Given the description of an element on the screen output the (x, y) to click on. 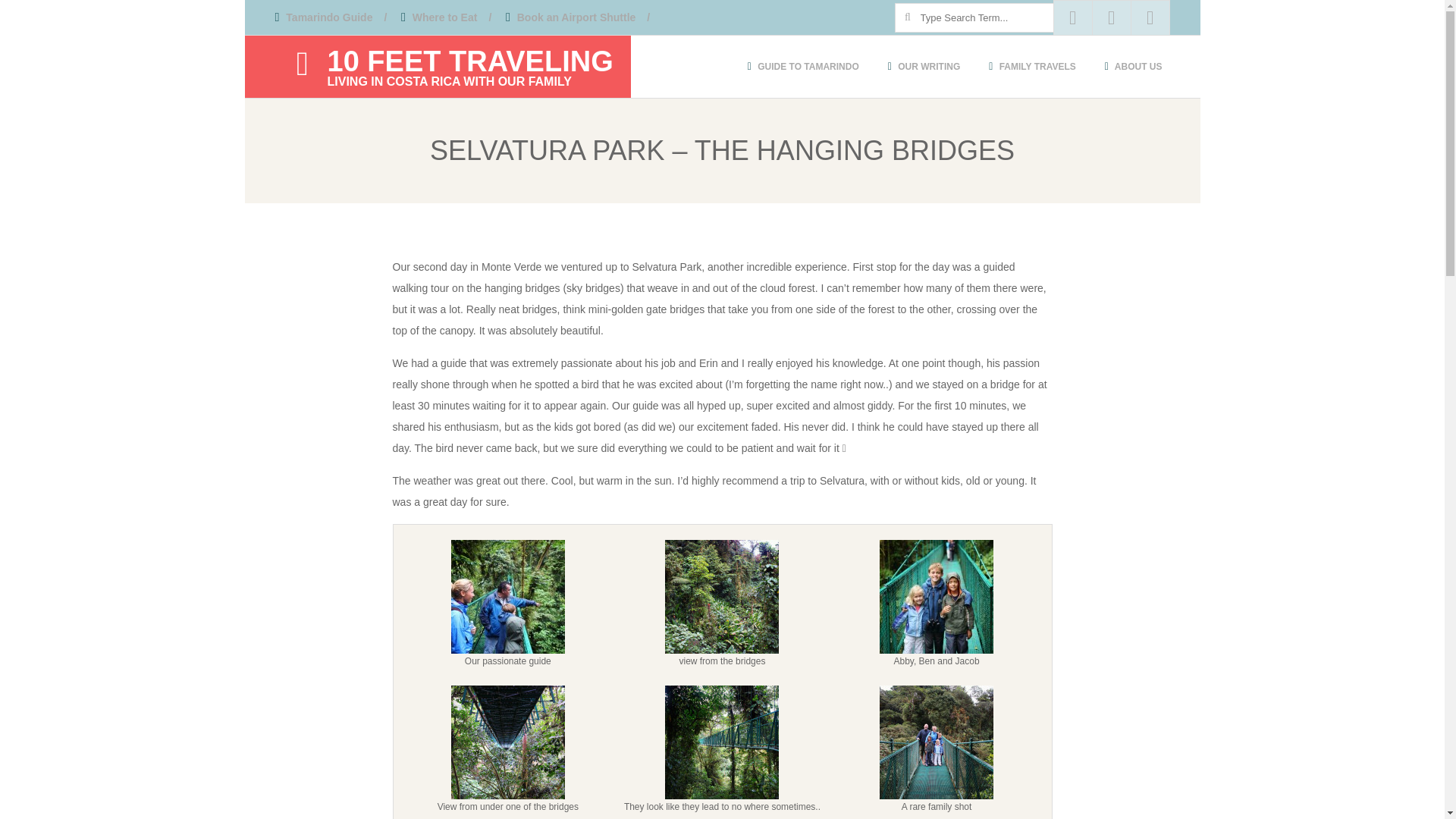
GUIDE TO TAMARINDO (802, 66)
Tamarindo Guide (463, 66)
Book an Airport Shuttle (331, 17)
Where to Eat (577, 17)
OUR WRITING (446, 17)
